Given the description of an element on the screen output the (x, y) to click on. 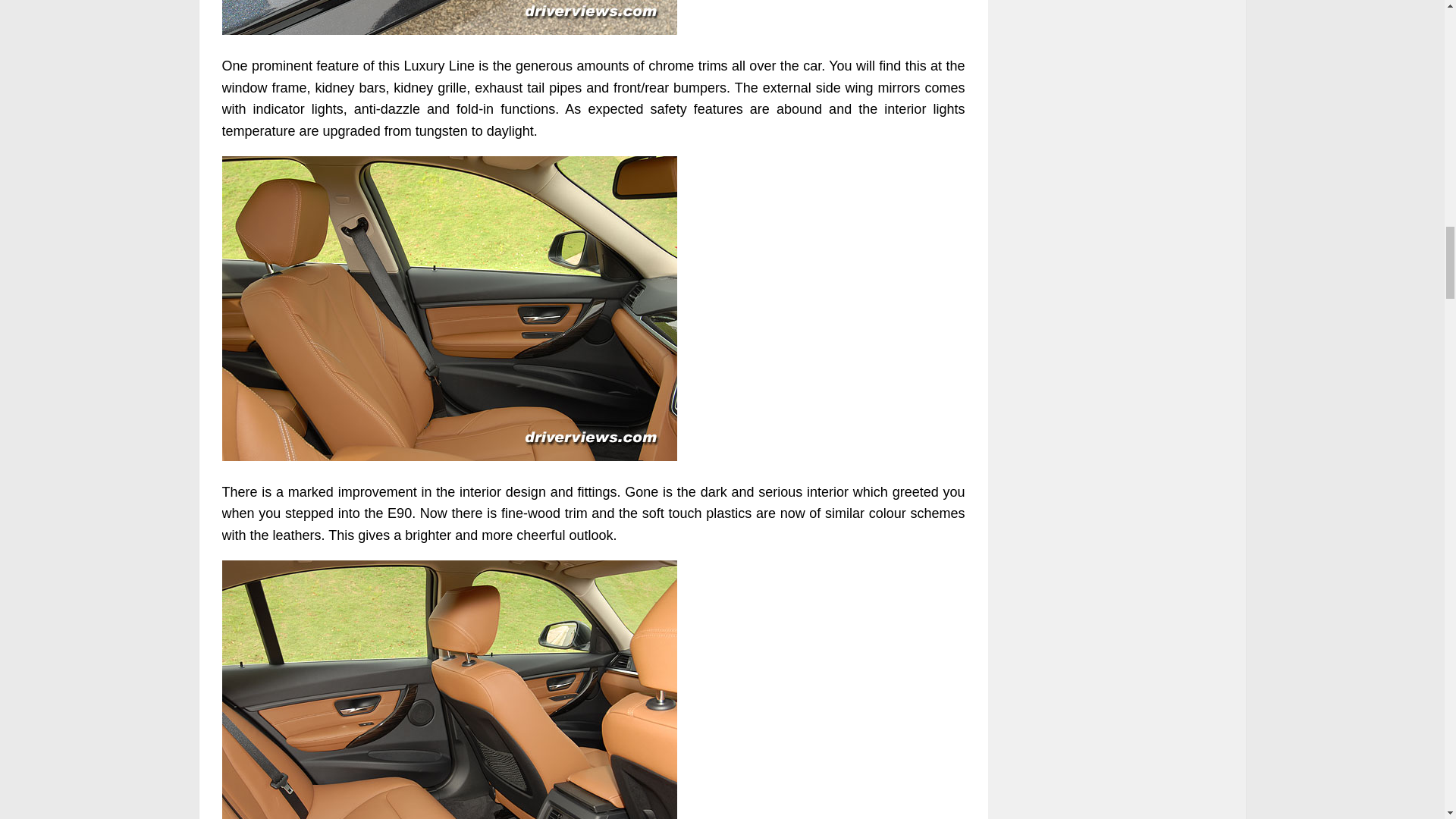
BMW 328i (449, 689)
BMW 328i (449, 17)
